Given the description of an element on the screen output the (x, y) to click on. 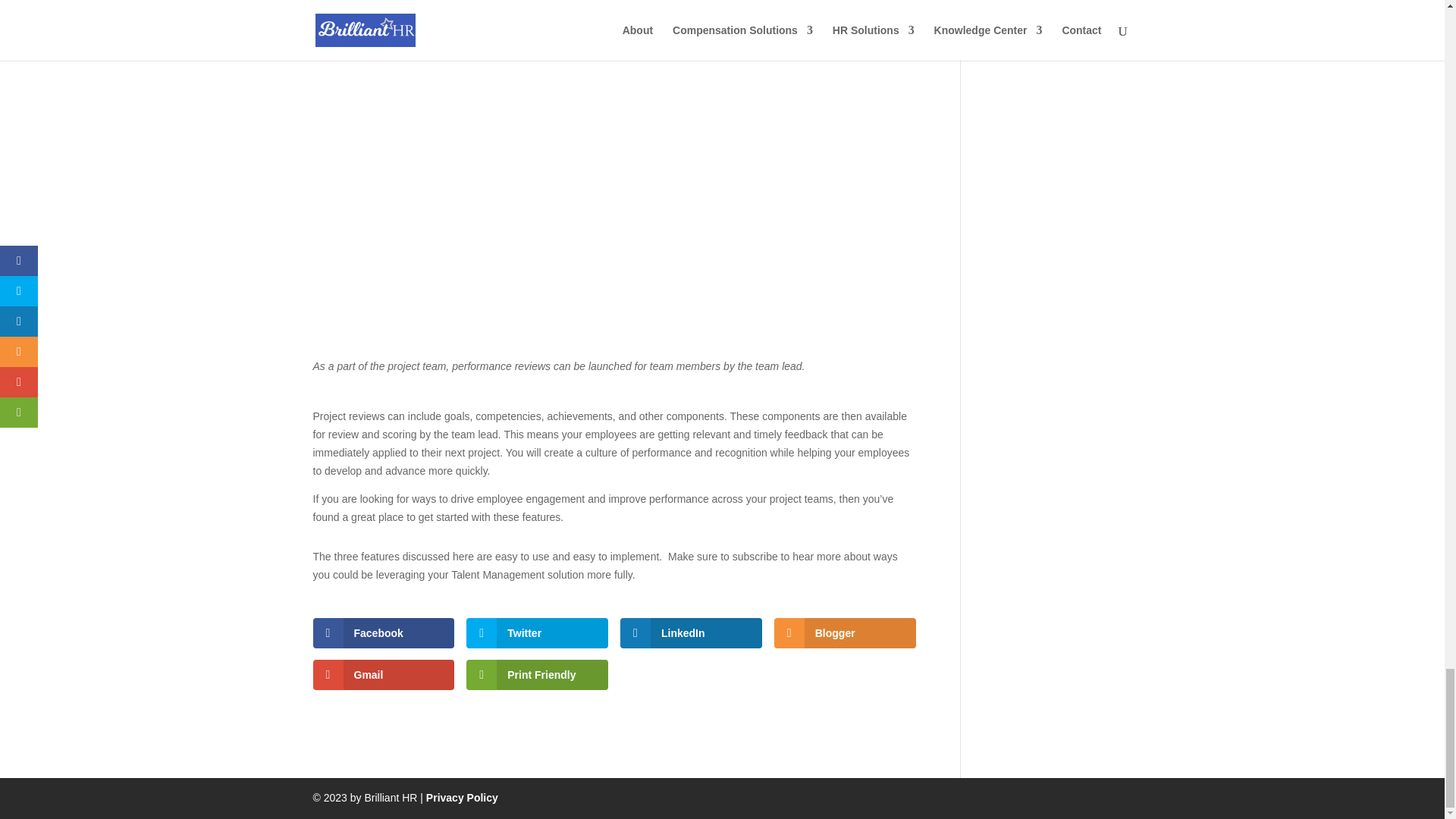
LinkedIn 1 (690, 633)
Blogger 0 (844, 633)
Twitter 0 (536, 633)
Facebook 0 (383, 633)
